Given the description of an element on the screen output the (x, y) to click on. 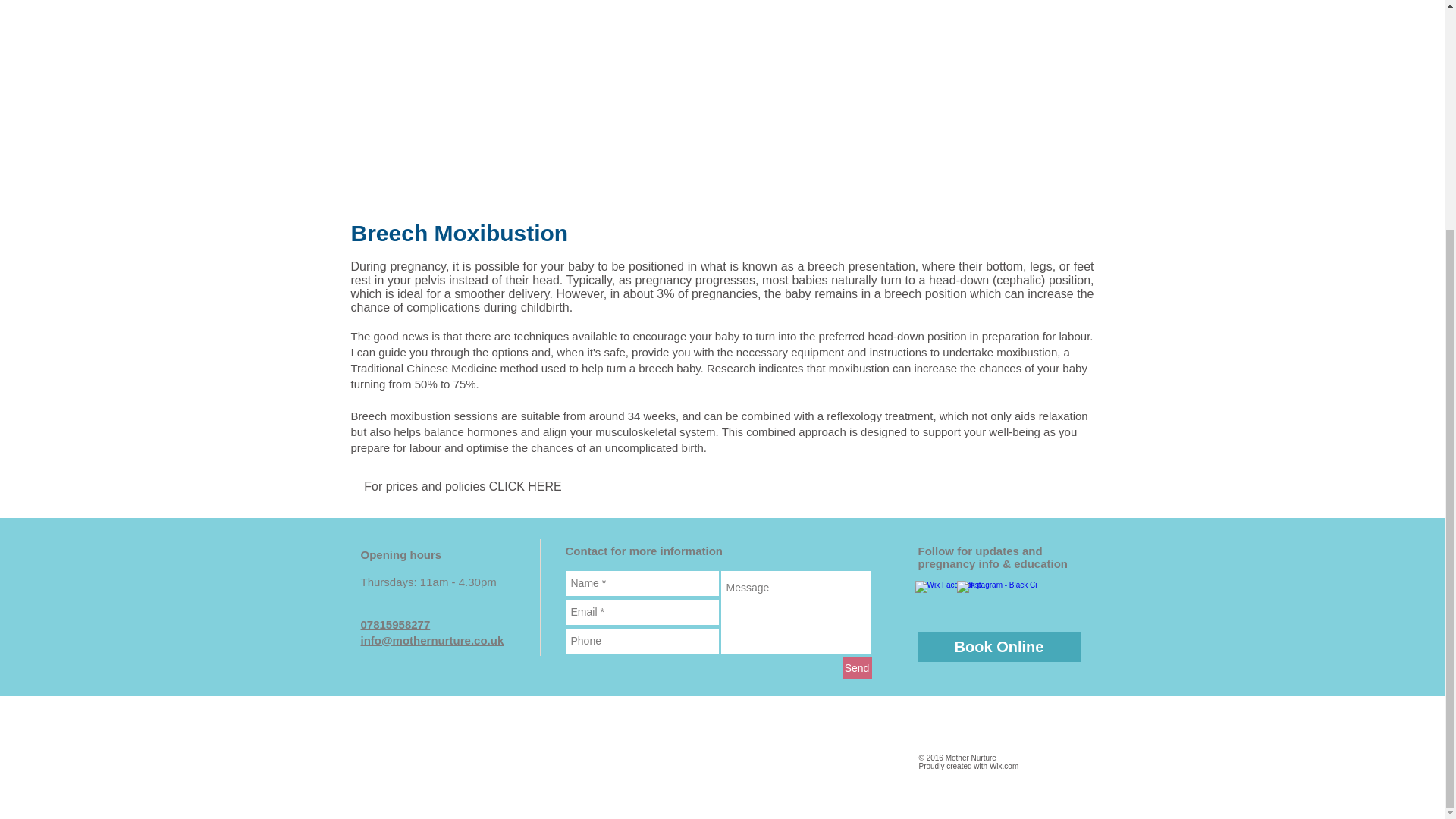
Send (855, 668)
For prices and policies CLICK HERE (462, 486)
Book Online (998, 646)
07815958277 (395, 624)
Wix.com (1003, 766)
